Given the description of an element on the screen output the (x, y) to click on. 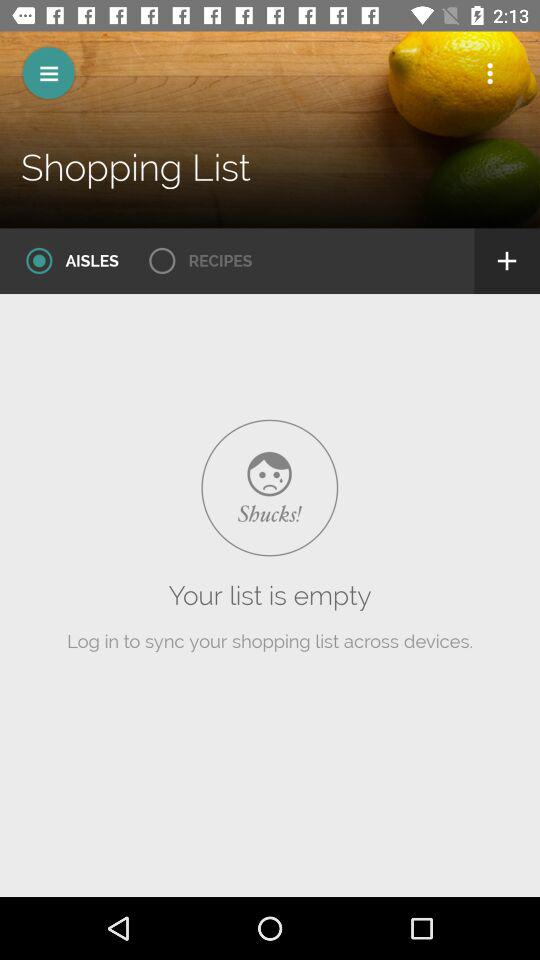
to get recipes option (194, 261)
